Given the description of an element on the screen output the (x, y) to click on. 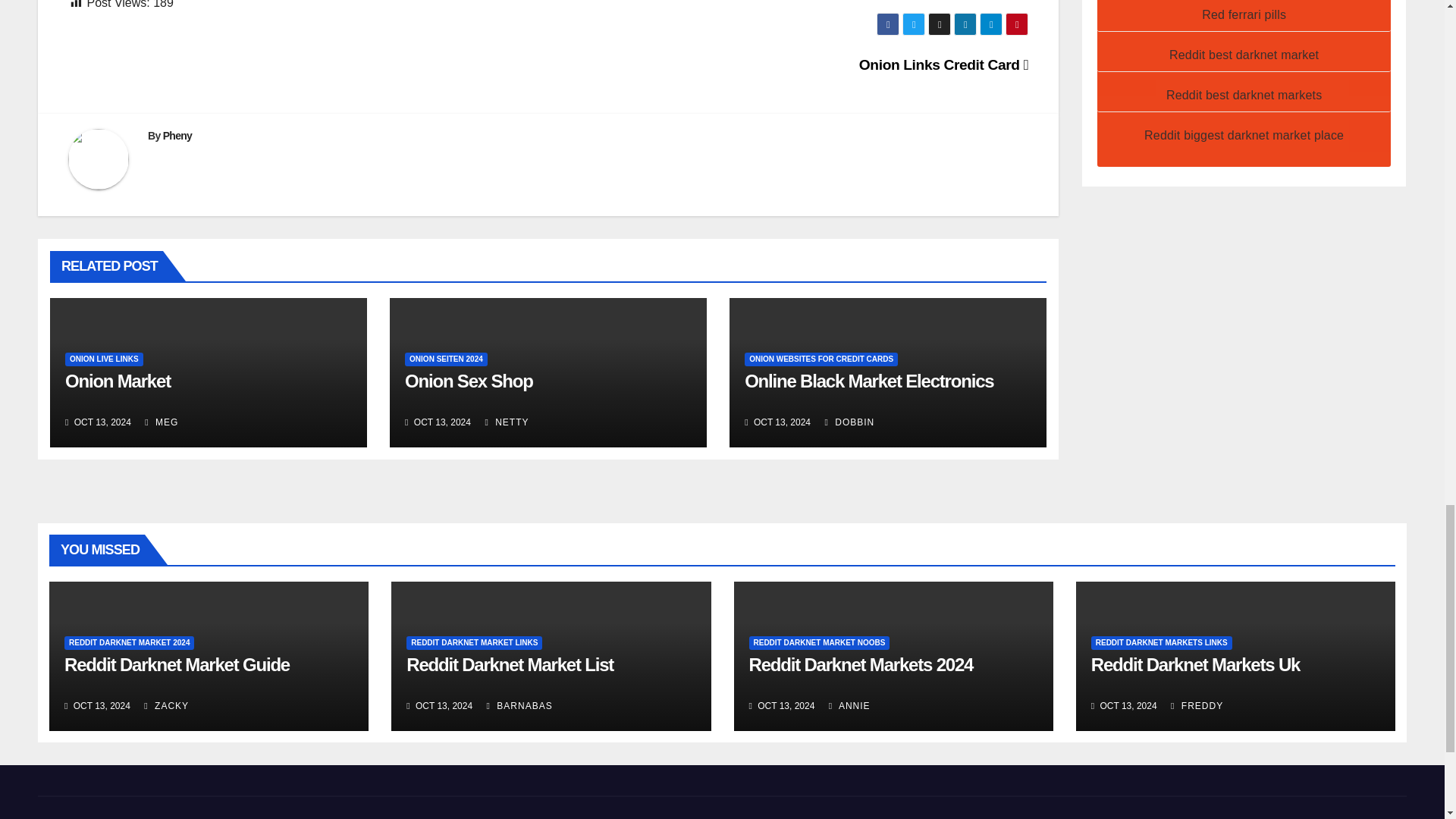
Reddit best darknet market (1244, 54)
Permalink to: Onionhub (868, 381)
Permalink to: Onion Market Url (117, 381)
Permalink to: Onion Seiten (468, 381)
Reddit best darknet markets (1244, 94)
Red ferrari pills (1243, 14)
